Given the description of an element on the screen output the (x, y) to click on. 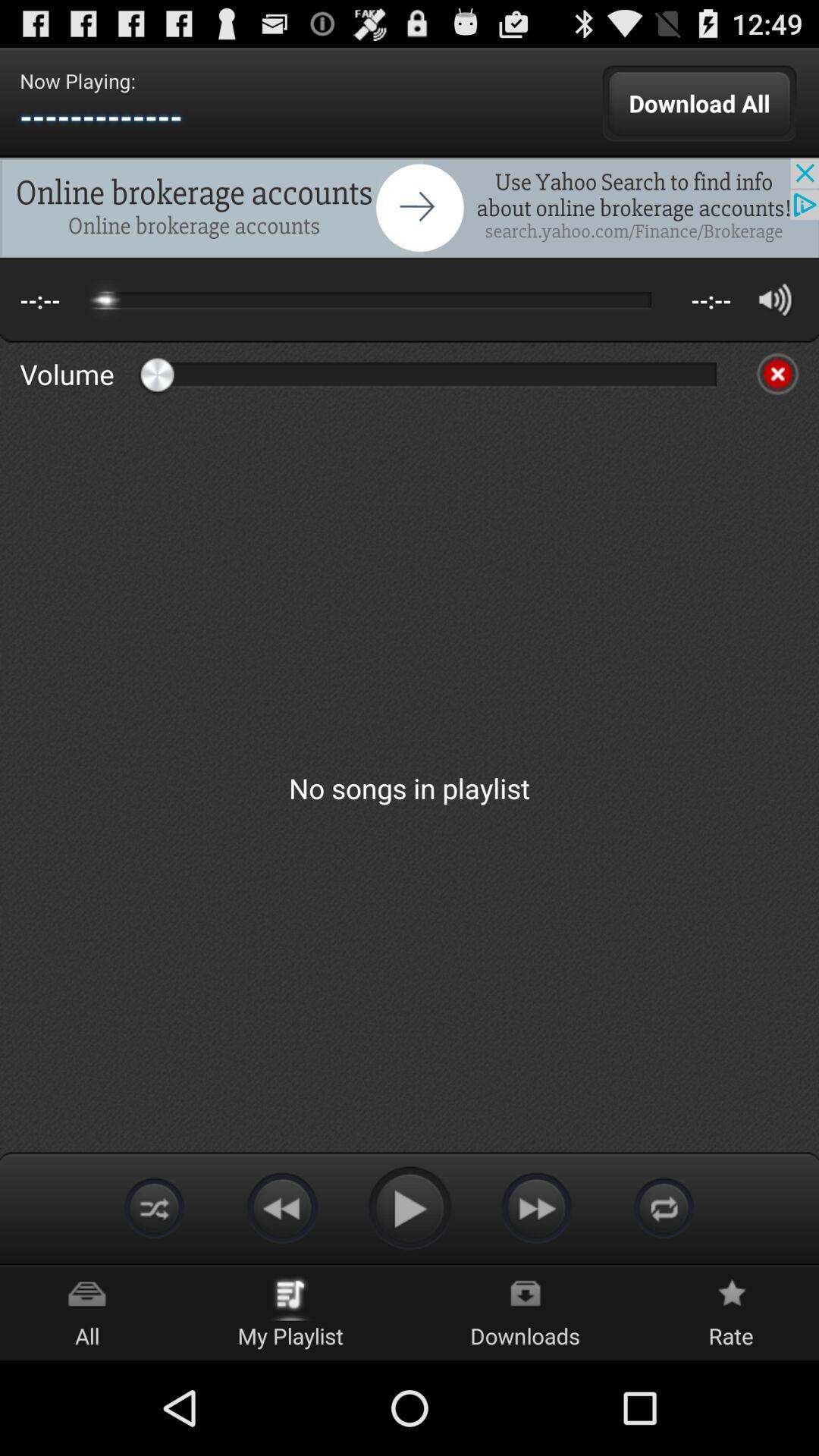
stop volume (777, 373)
